Given the description of an element on the screen output the (x, y) to click on. 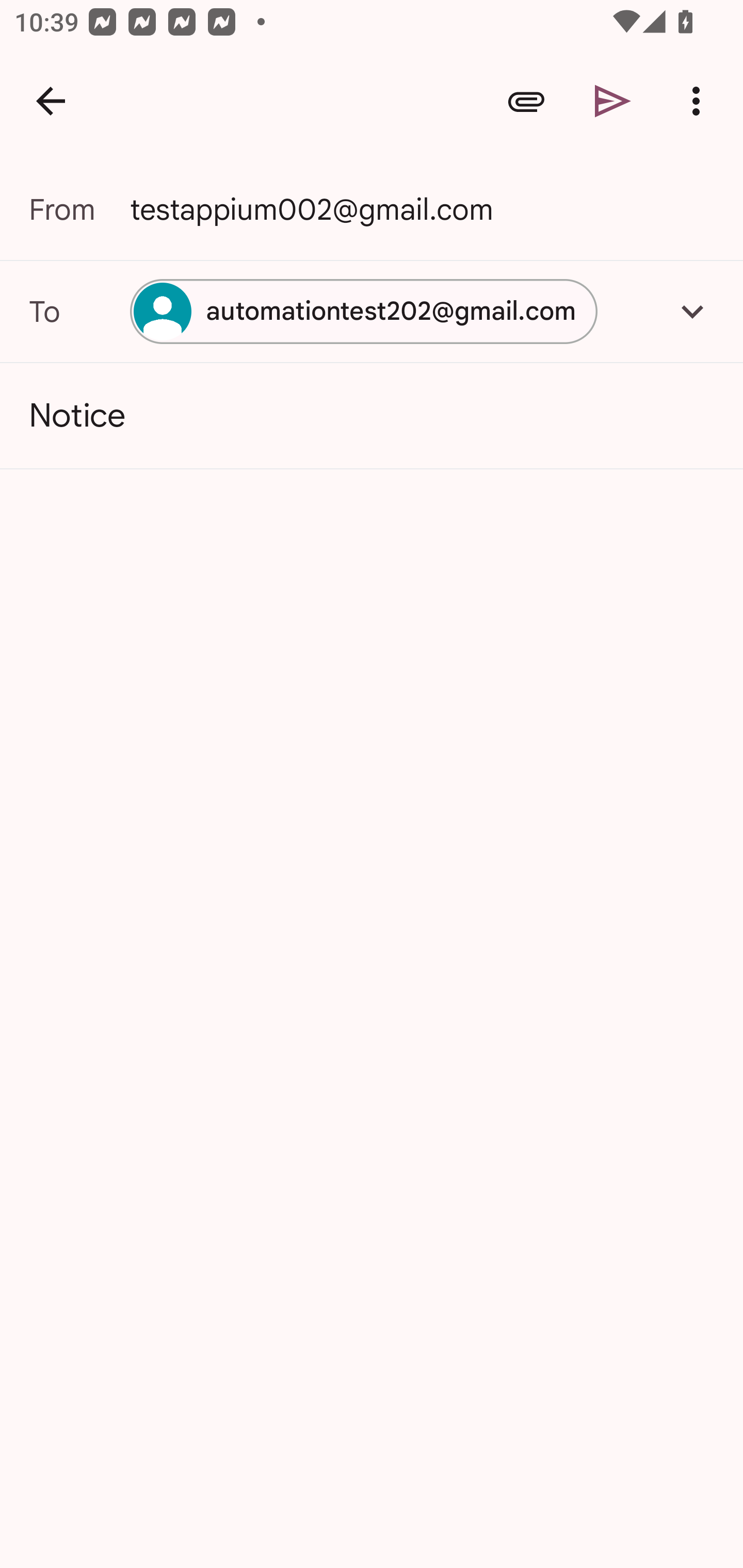
Navigate up (50, 101)
Attach file (525, 101)
Send (612, 101)
More options (699, 101)
From (79, 209)
Add Cc/Bcc (692, 311)
Notice (371, 415)
